Given the description of an element on the screen output the (x, y) to click on. 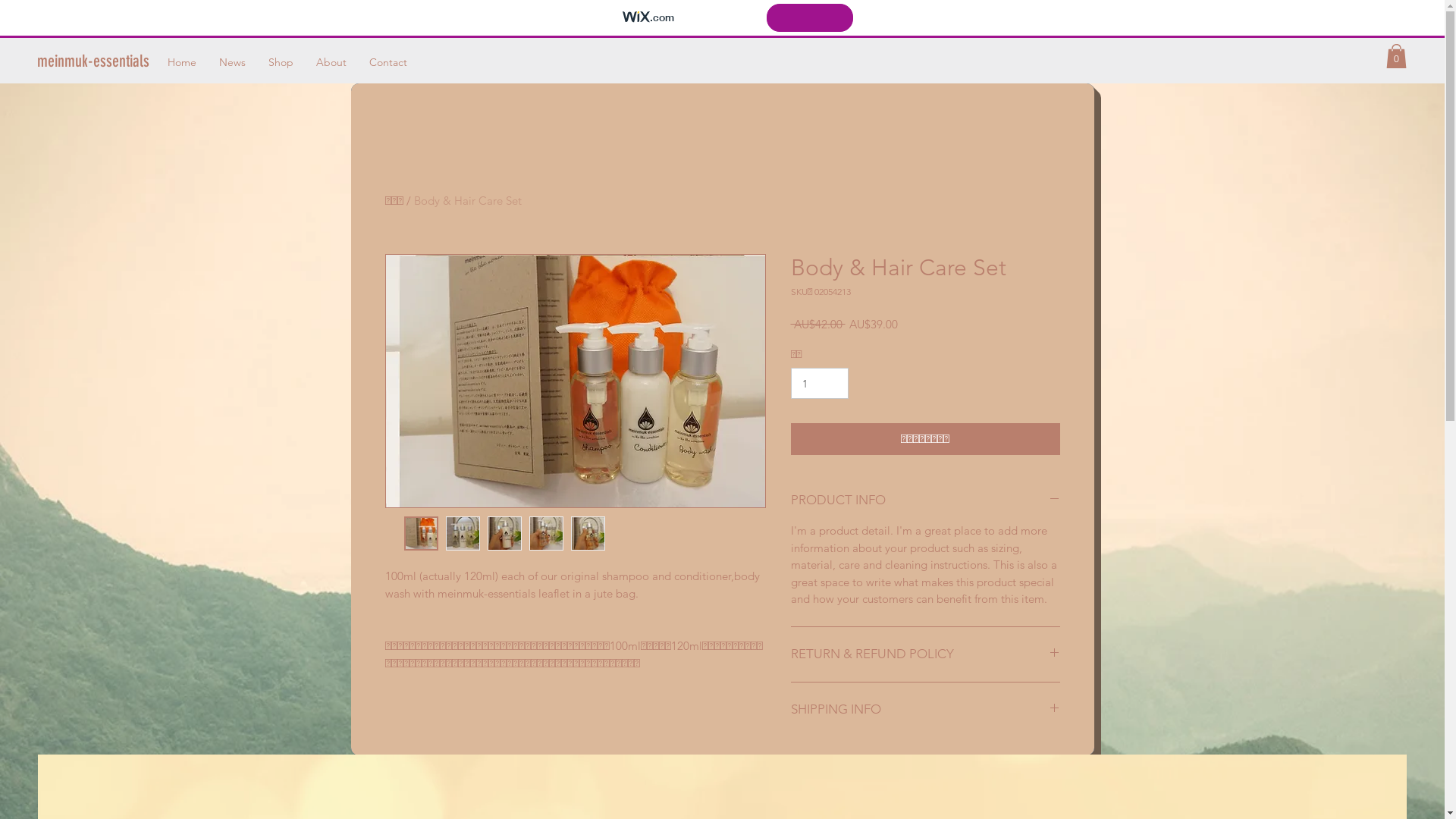
meinmuk-essentials Element type: text (93, 61)
0 Element type: text (1396, 55)
Home Element type: text (181, 62)
RETURN & REFUND POLICY Element type: text (924, 654)
SHIPPING INFO Element type: text (924, 709)
About Element type: text (330, 62)
PRODUCT INFO Element type: text (924, 500)
Body & Hair Care Set Element type: text (467, 200)
News Element type: text (232, 62)
Shop Element type: text (280, 62)
Contact Element type: text (387, 62)
